Given the description of an element on the screen output the (x, y) to click on. 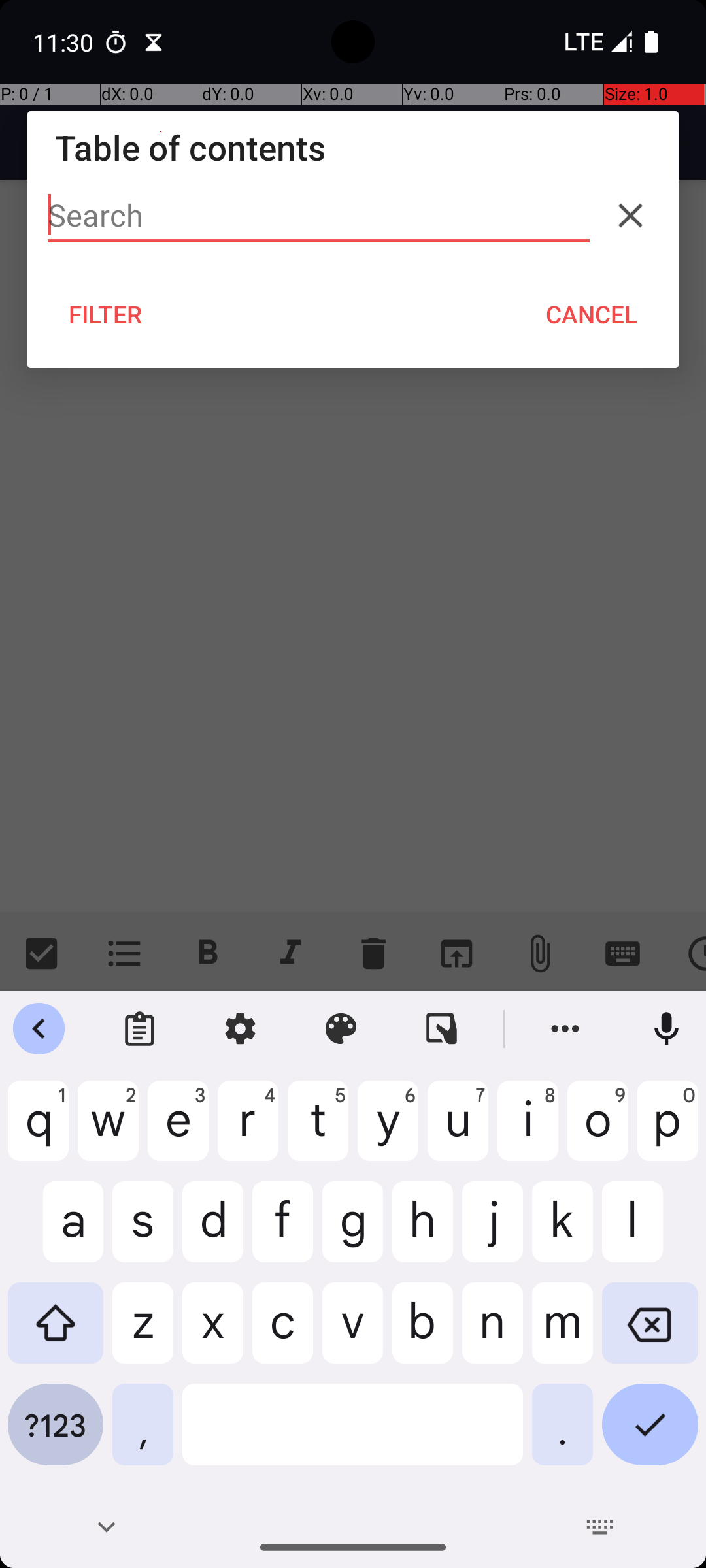
11:30 Element type: android.widget.TextView (64, 41)
